Given the description of an element on the screen output the (x, y) to click on. 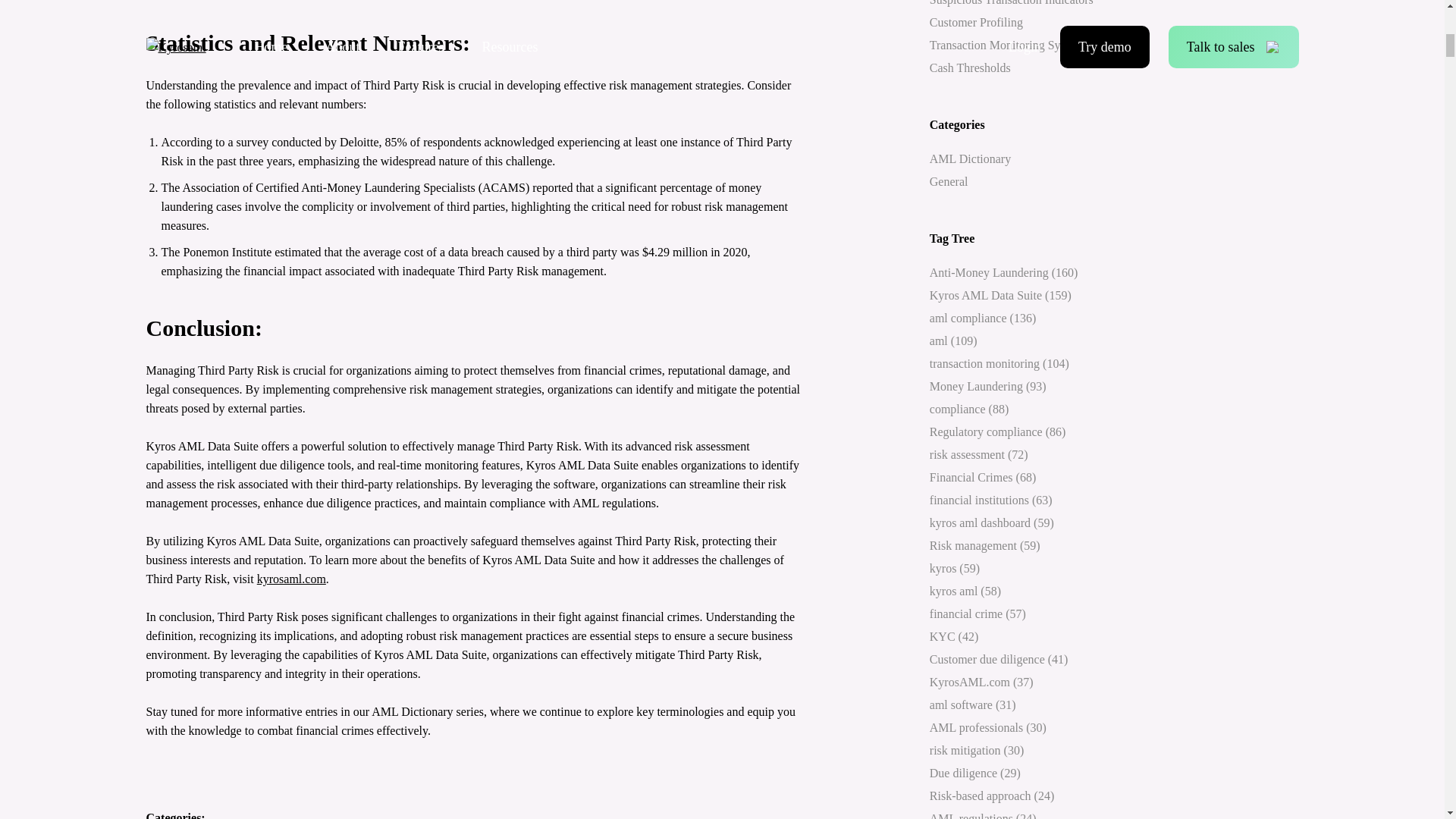
kyrosaml.com (291, 578)
